Given the description of an element on the screen output the (x, y) to click on. 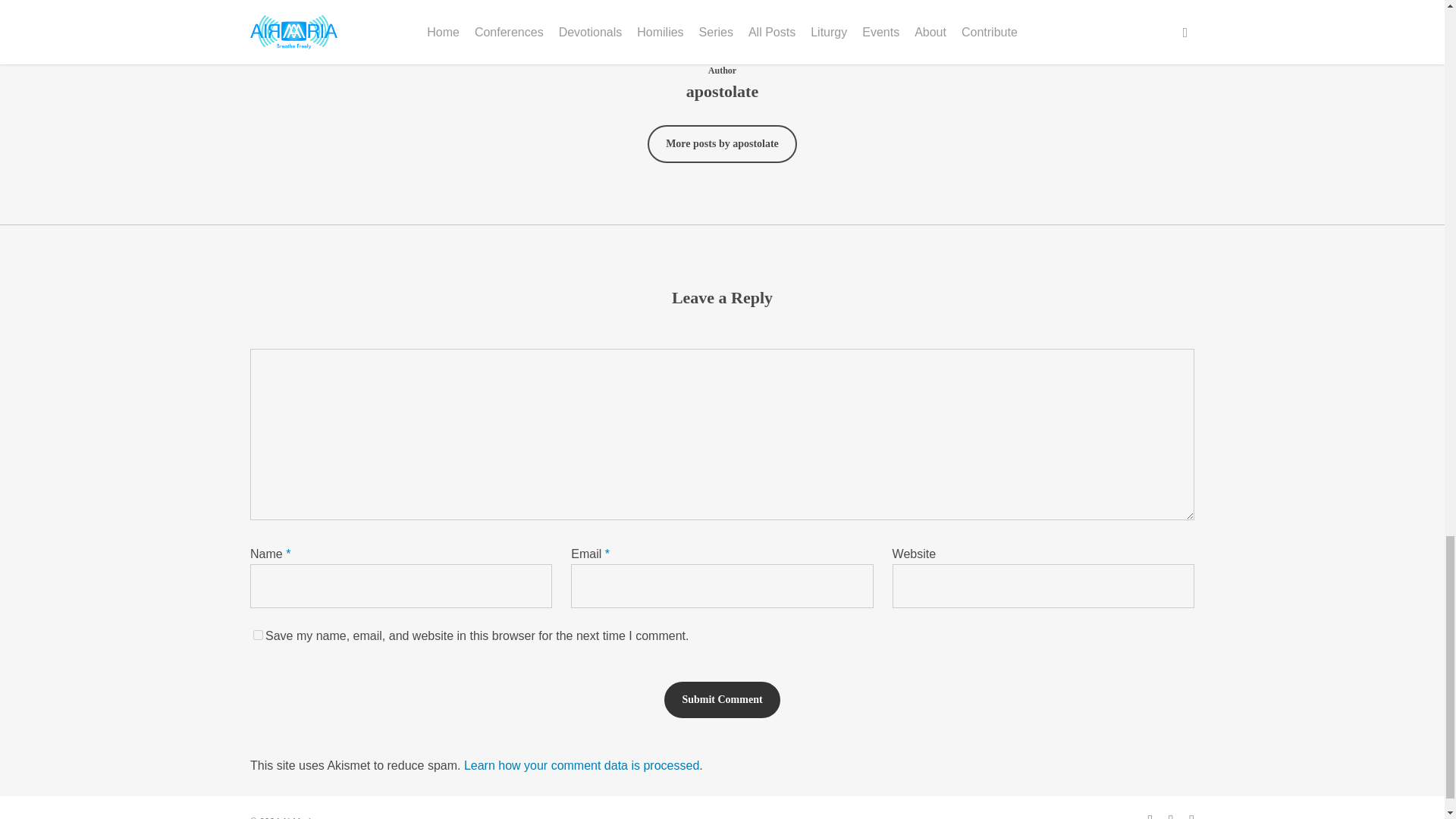
Submit Comment (720, 699)
Submit Comment (720, 699)
yes (258, 634)
More posts by apostolate (721, 143)
facebook (1170, 815)
twitter (1150, 815)
Learn how your comment data is processed (581, 765)
